Given the description of an element on the screen output the (x, y) to click on. 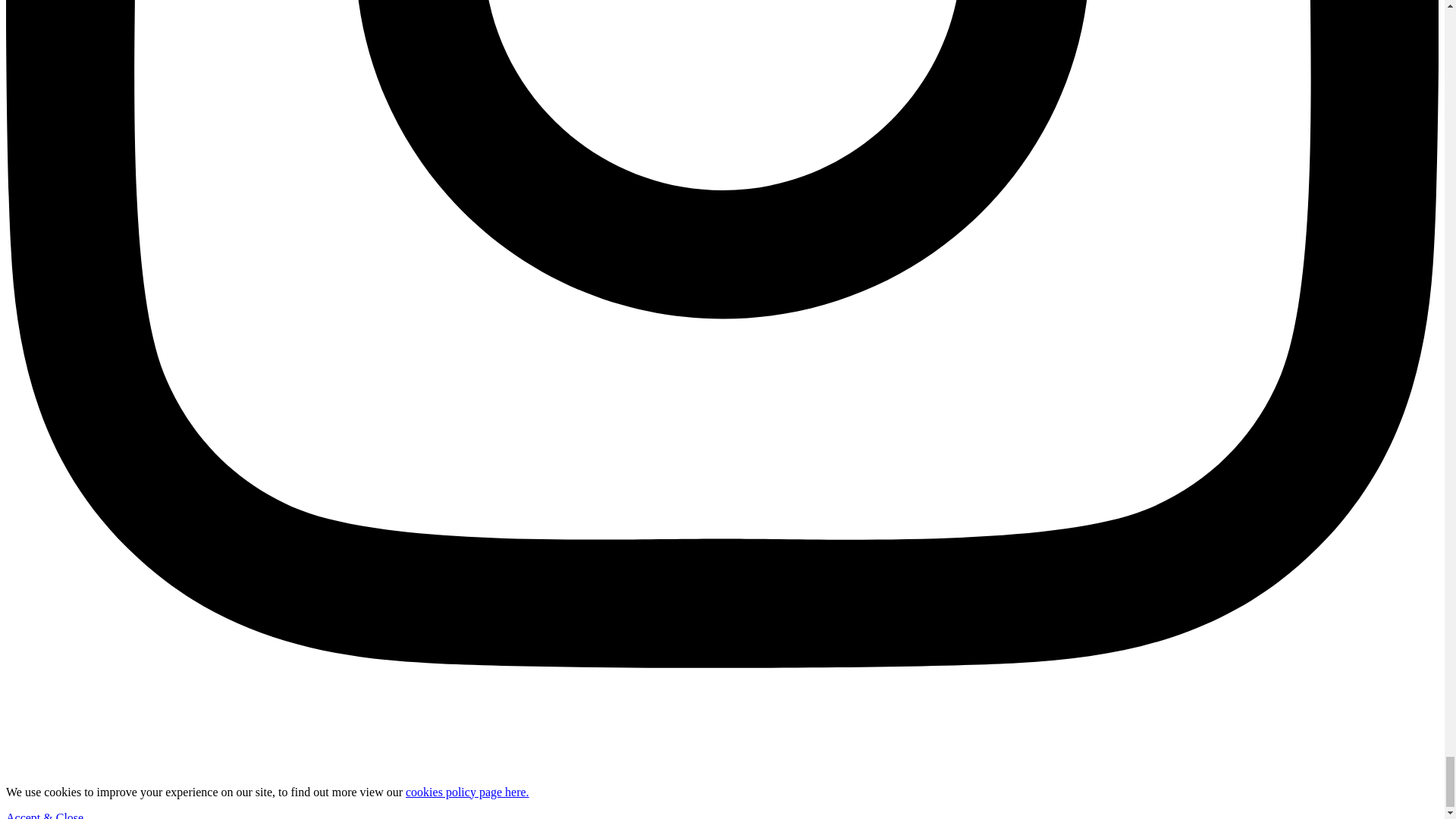
cookies policy page here. (467, 790)
